Given the description of an element on the screen output the (x, y) to click on. 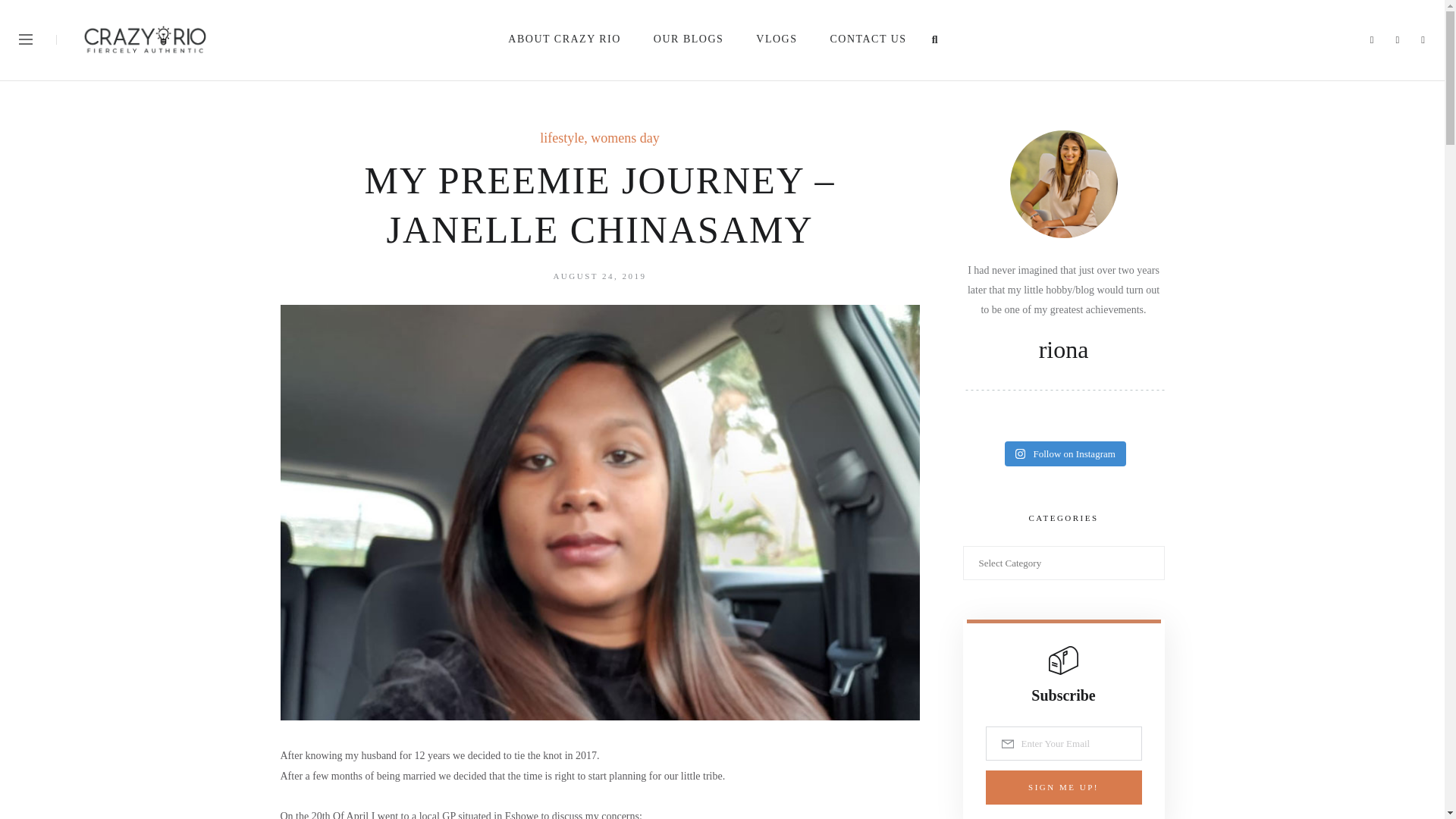
ABOUT CRAZY RIO (566, 39)
lifestyle (561, 138)
VLOGS (777, 39)
womens day (625, 138)
CONTACT US (868, 39)
OUR BLOGS (690, 39)
